Given the description of an element on the screen output the (x, y) to click on. 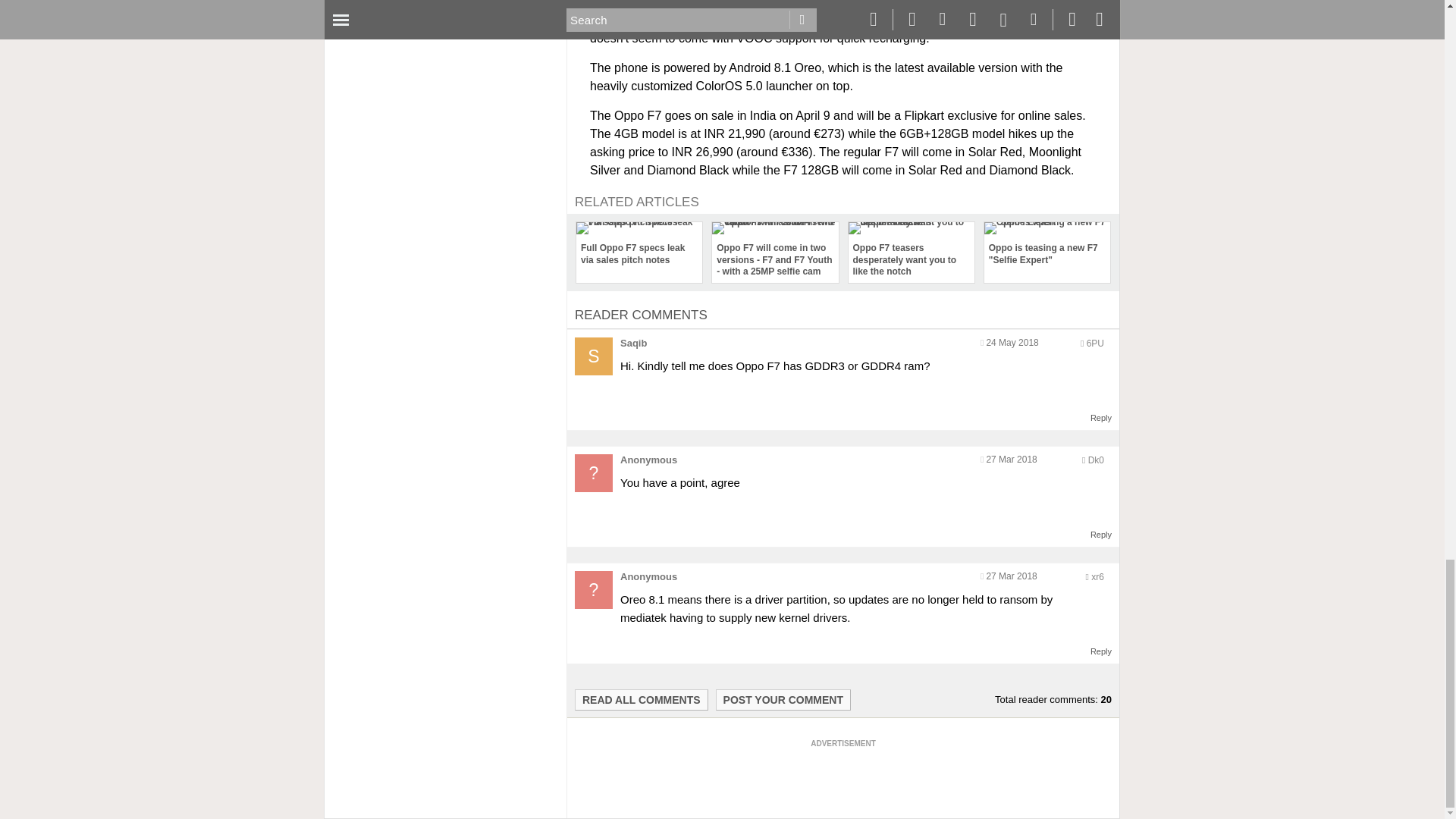
Oppo is teasing a new F7 "Selfie Expert" (1046, 246)
Reply to this post (1101, 533)
Oppo F7 teasers desperately want you to like the notch (910, 251)
Encoded anonymized location (1095, 460)
Encoded anonymized location (1096, 576)
Reply to this post (1101, 651)
Encoded anonymized location (1094, 343)
Reply to this post (1101, 417)
Full Oppo F7 specs leak via sales pitch notes (638, 246)
